Given the description of an element on the screen output the (x, y) to click on. 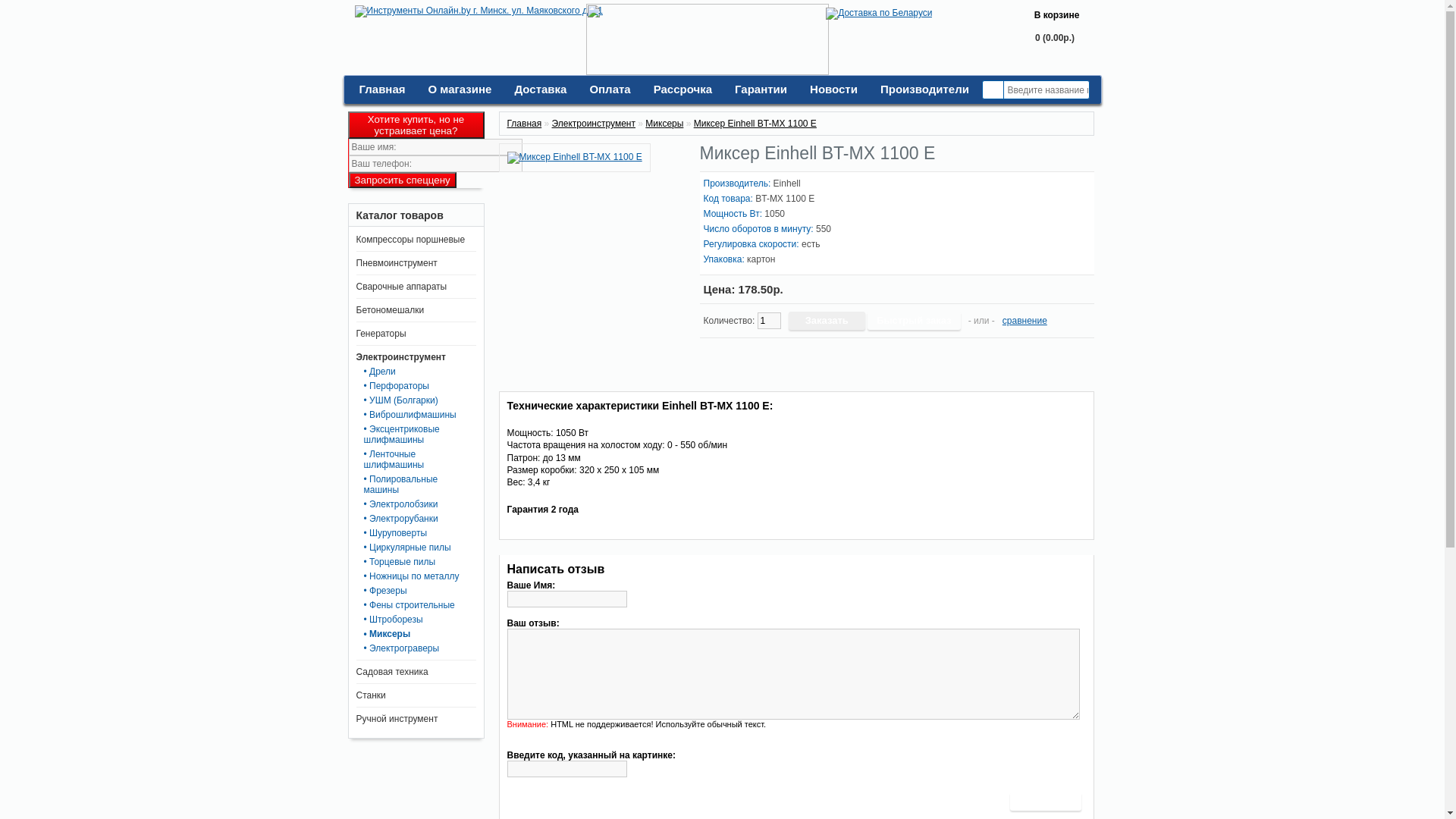
Einhell Element type: text (786, 183)
